Given the description of an element on the screen output the (x, y) to click on. 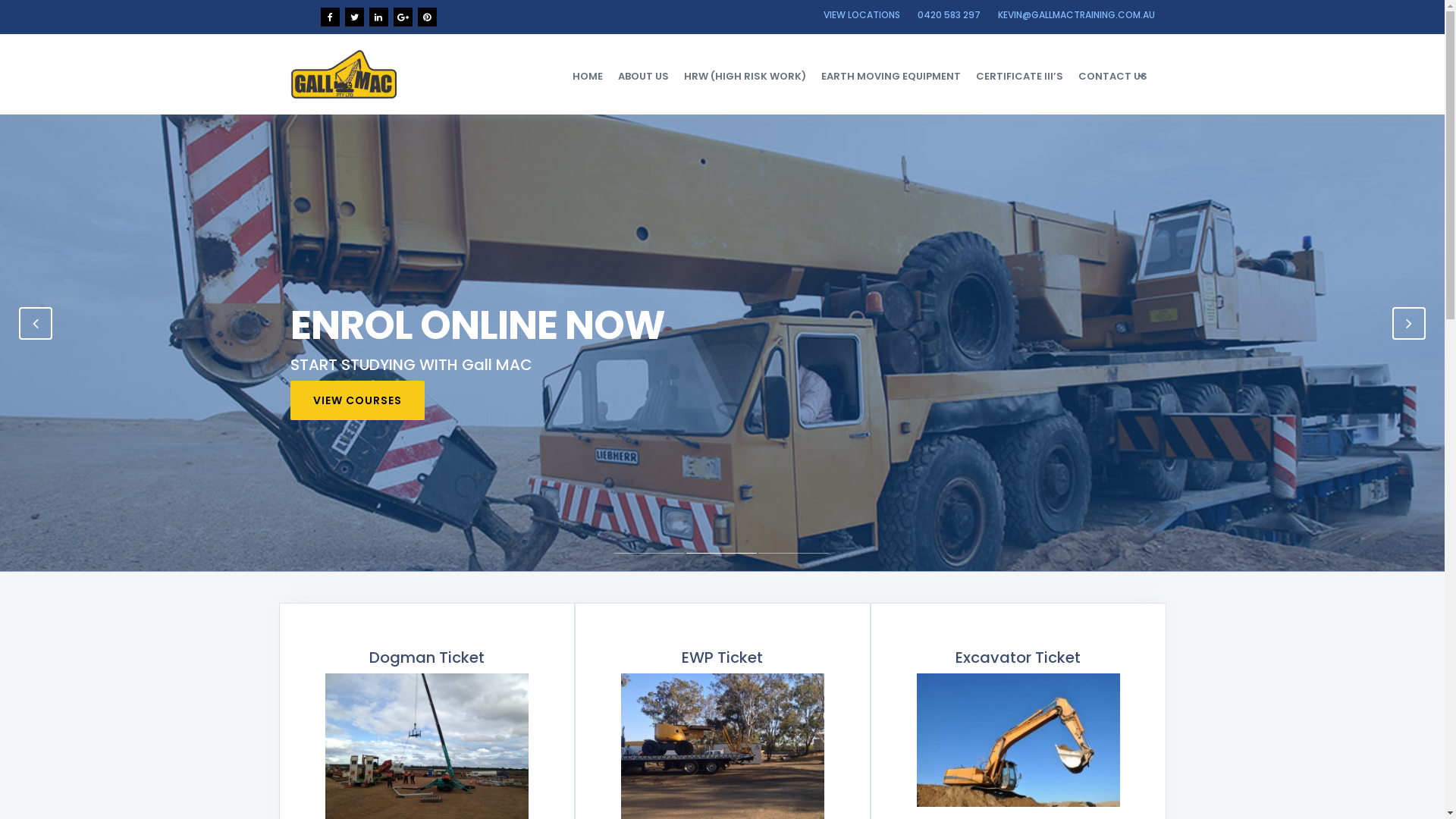
KEVIN@GALLMACTRAINING.COM.AU Element type: text (1075, 14)
HOME Element type: text (586, 76)
HRW (HIGH RISK WORK) Element type: text (744, 76)
ABOUT US Element type: text (642, 76)
EARTH MOVING EQUIPMENT Element type: text (889, 76)
CONTACT US Element type: text (1112, 76)
VIEW COURSES Element type: text (356, 400)
0420 583 297 Element type: text (948, 14)
VIEW LOCATIONS Element type: text (861, 14)
